Given the description of an element on the screen output the (x, y) to click on. 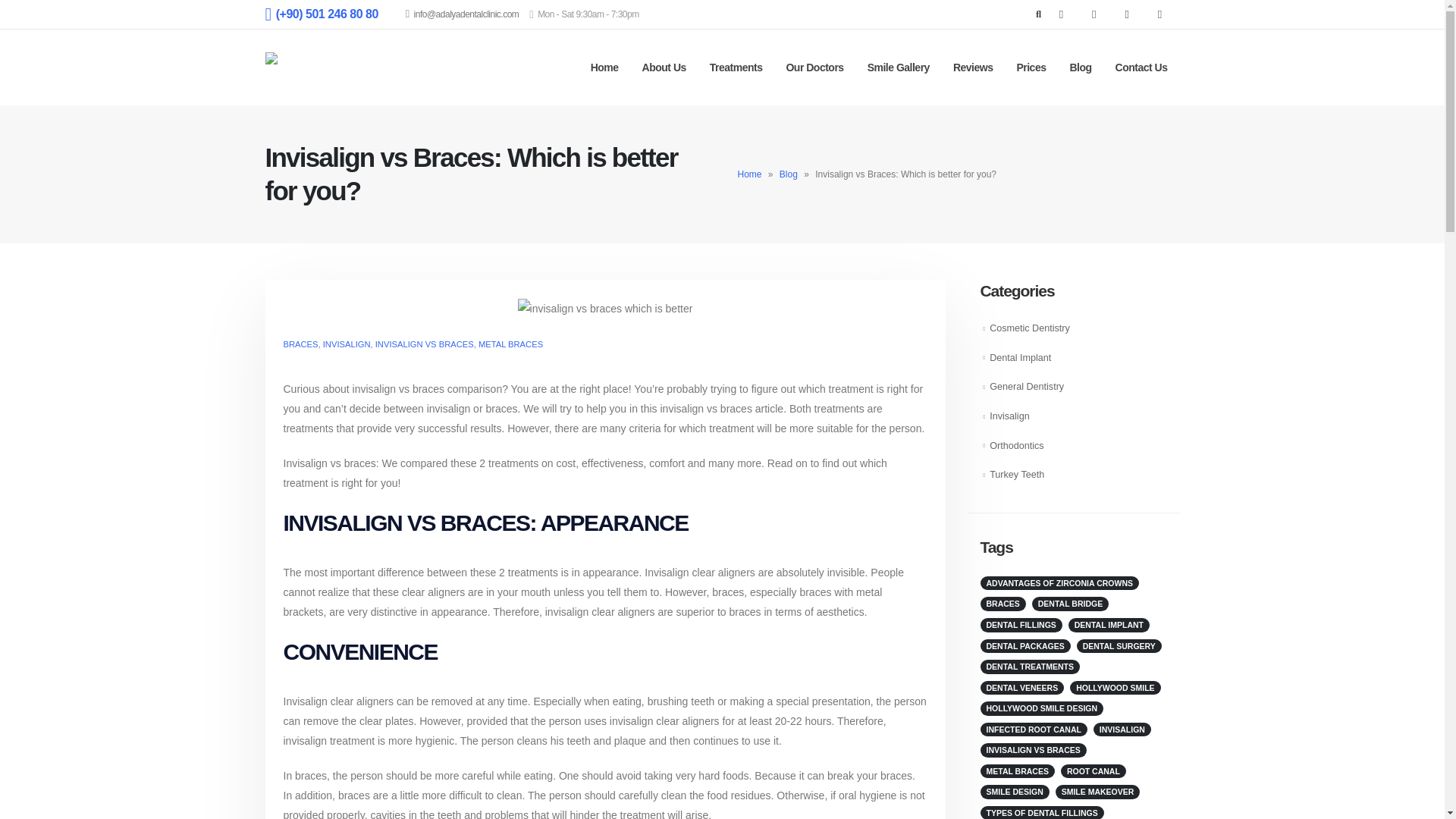
Adalya Dental Clinic - Premium Dental Center in Turkey (311, 67)
Instagram (1126, 14)
LinkedIn (1160, 14)
Pinterest (1094, 14)
Treatments (736, 67)
Facebook (1060, 14)
